Given the description of an element on the screen output the (x, y) to click on. 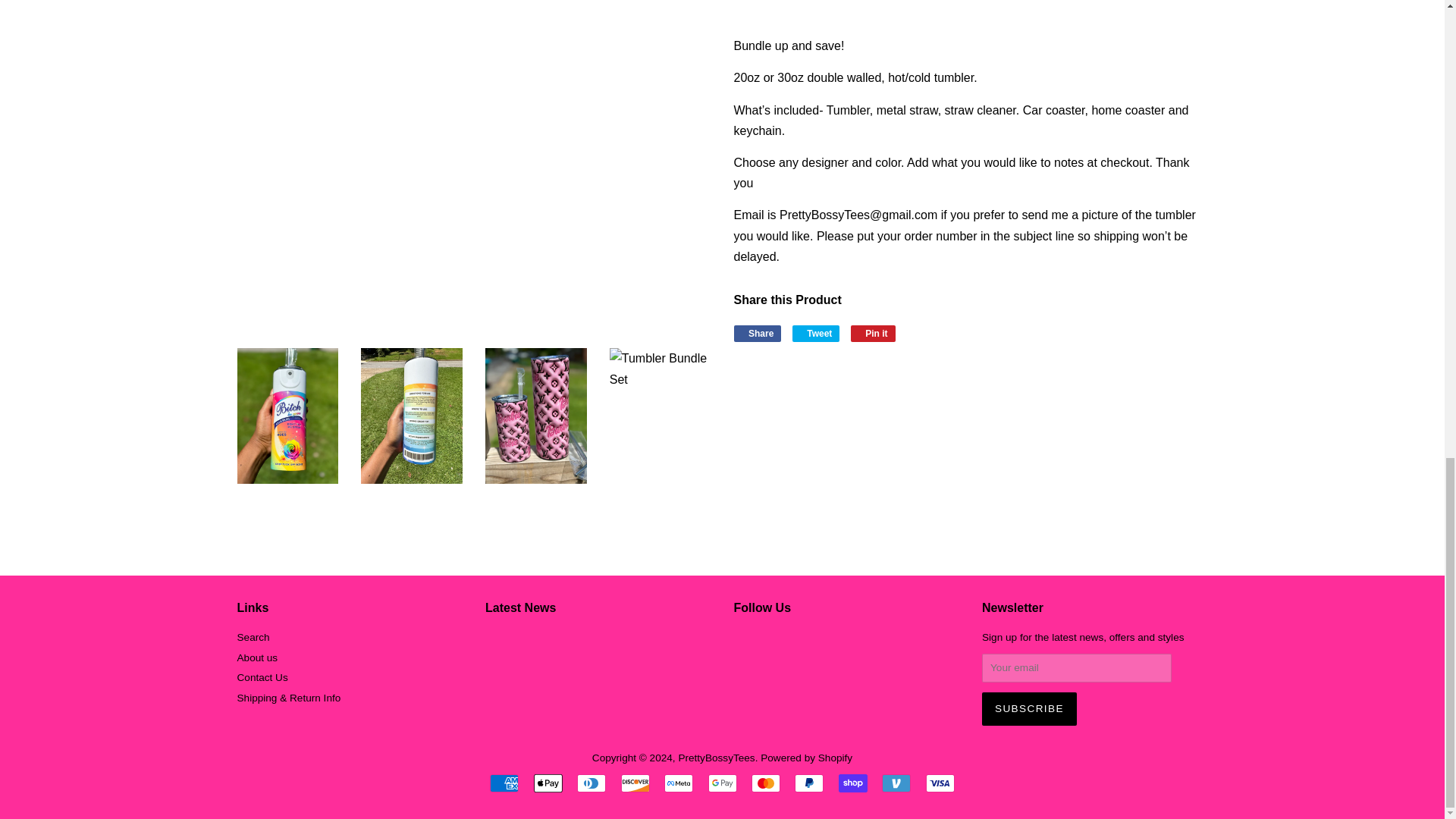
Diners Club (590, 782)
Mastercard (765, 782)
Google Pay (721, 782)
Share on Facebook (757, 333)
Subscribe (1029, 708)
Visa (940, 782)
Discover (635, 782)
Venmo (896, 782)
Shop Pay (852, 782)
Apple Pay (548, 782)
PayPal (809, 782)
Meta Pay (678, 782)
American Express (503, 782)
Tweet on Twitter (816, 333)
Pin on Pinterest (872, 333)
